Given the description of an element on the screen output the (x, y) to click on. 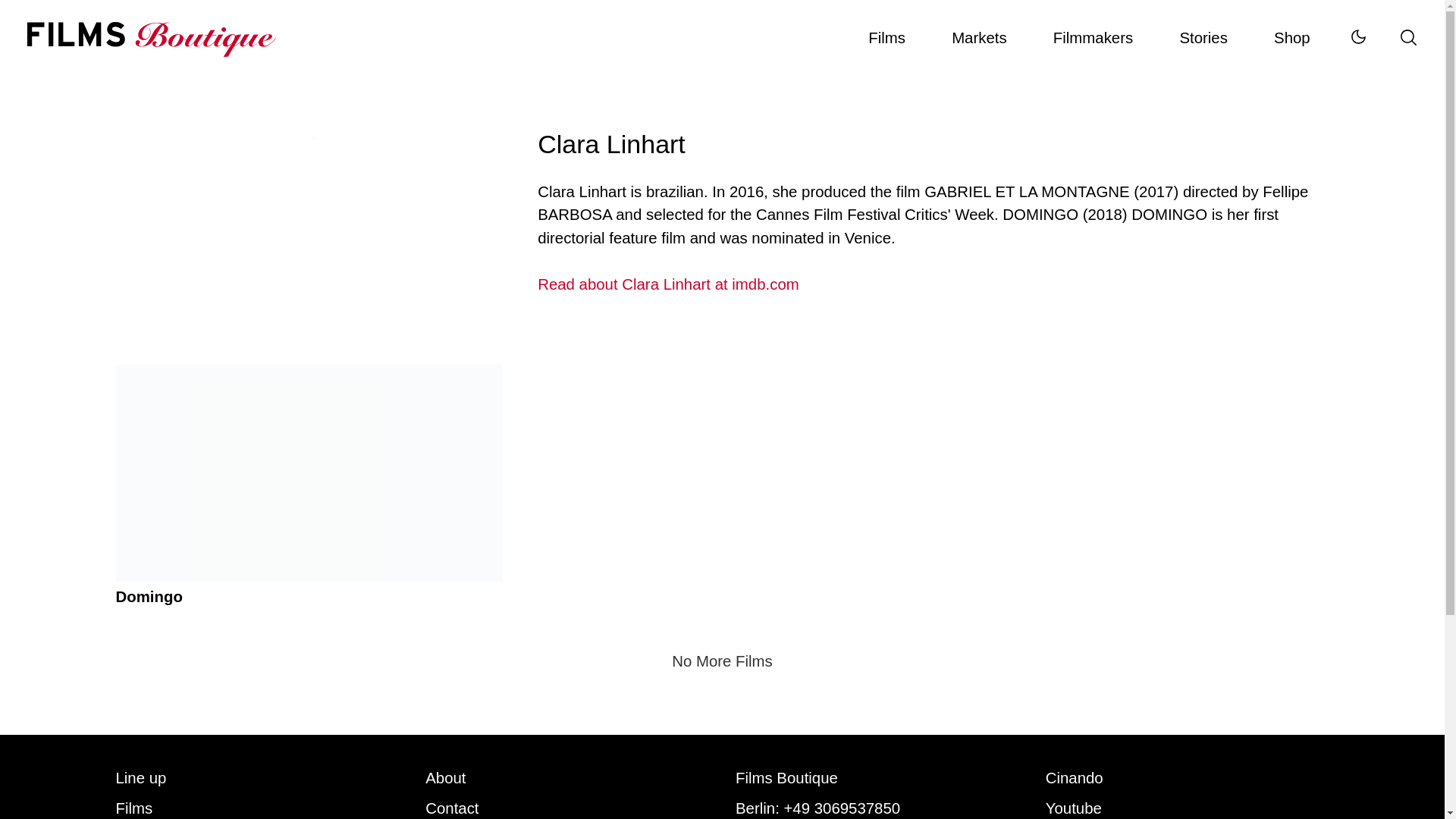
Cinando (1074, 777)
Filmmakers (1092, 37)
Stories (1203, 37)
Read about Clara Linhart at imdb.com (932, 284)
Line up (140, 777)
Youtube (1073, 808)
Films (886, 37)
Markets (979, 37)
About (445, 777)
Films (133, 808)
Contact (452, 808)
Shop (1291, 37)
